Given the description of an element on the screen output the (x, y) to click on. 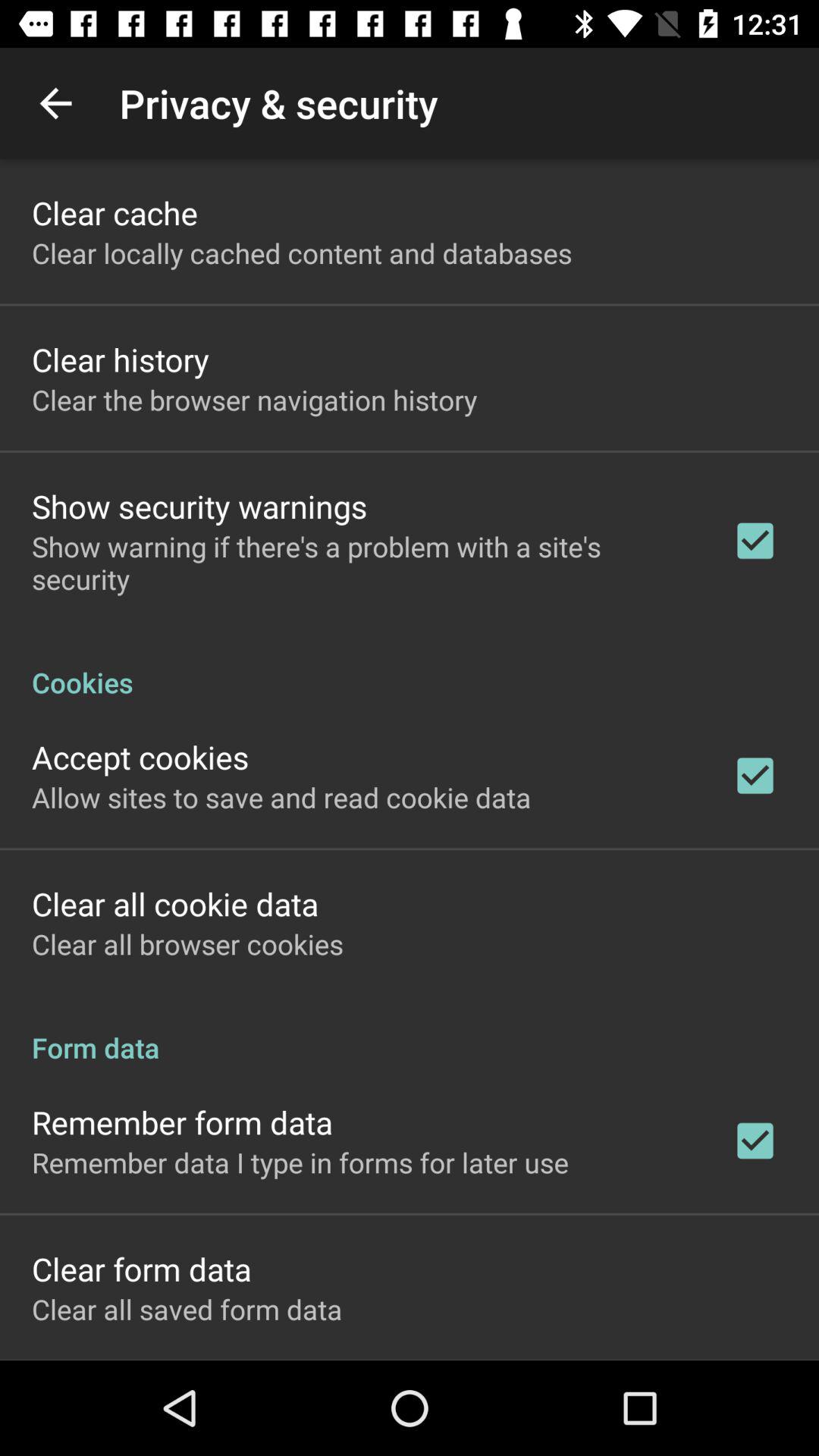
launch item below the clear cache item (301, 252)
